Given the description of an element on the screen output the (x, y) to click on. 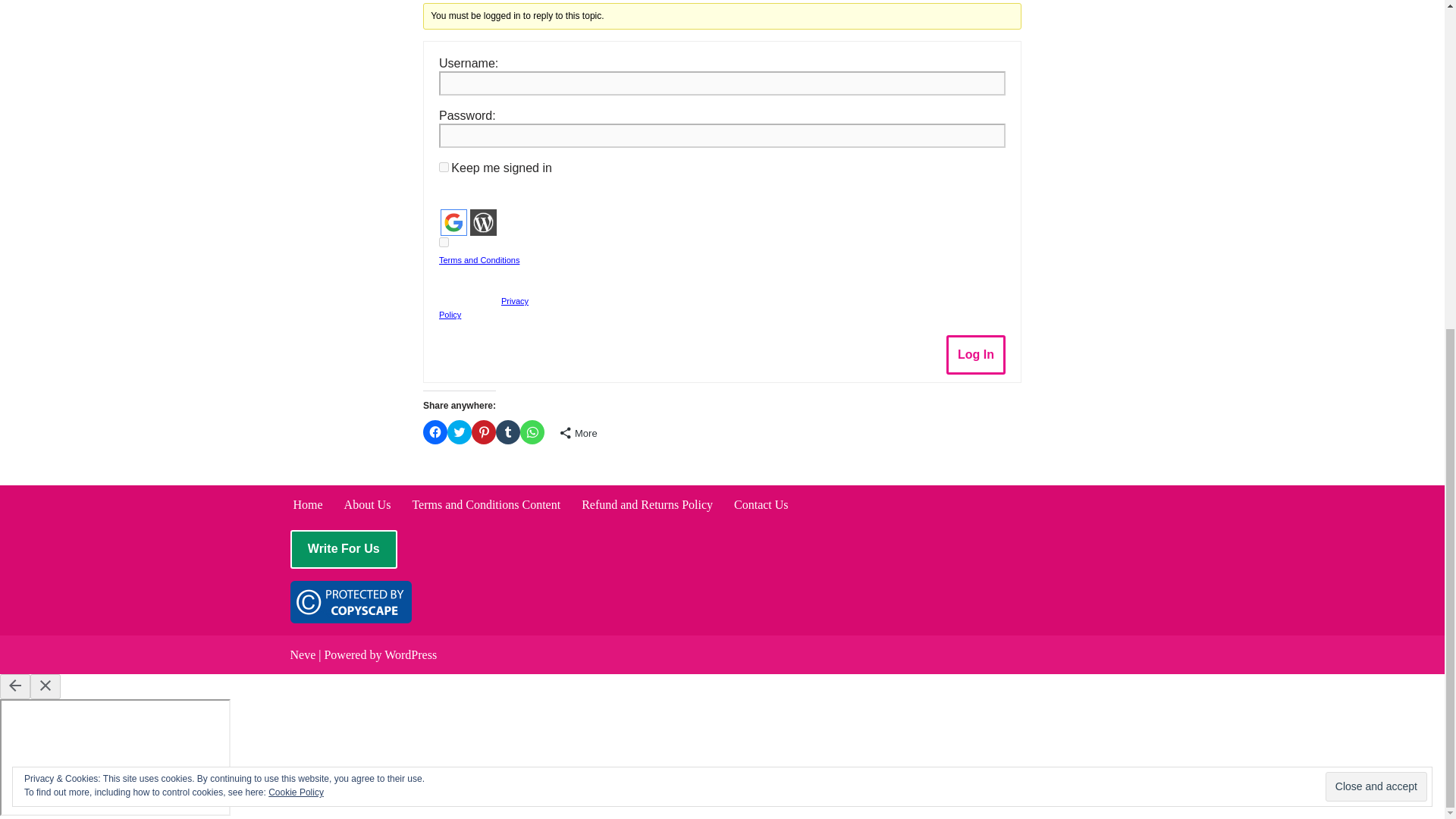
Click to share on Pinterest (483, 432)
Login with Wordpress (483, 222)
Click to share on Tumblr (507, 432)
1 (443, 242)
Login with Google (454, 222)
Click to share on Facebook (434, 432)
Click to share on WhatsApp (531, 432)
Close and accept (1375, 243)
Click to share on Twitter (458, 432)
forever (443, 166)
